Given the description of an element on the screen output the (x, y) to click on. 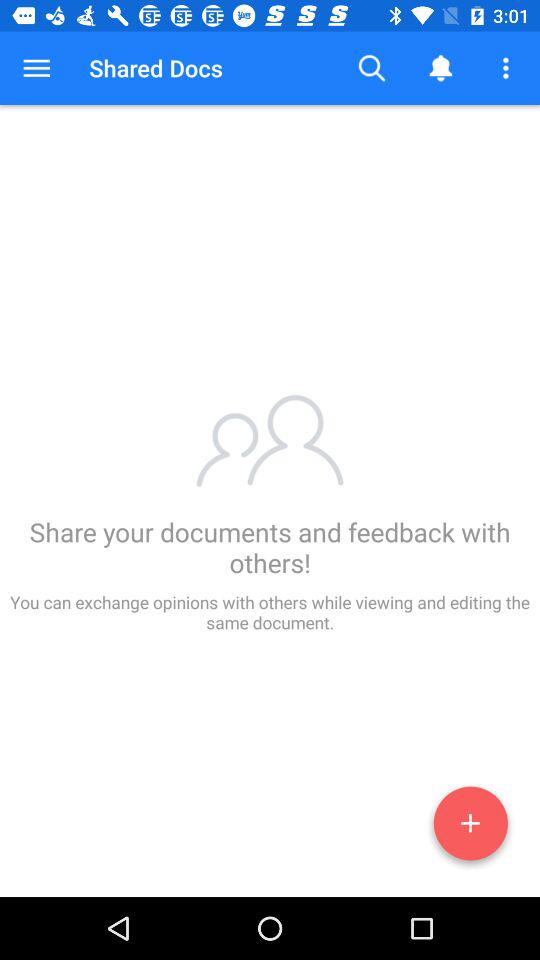
add doc (470, 827)
